Given the description of an element on the screen output the (x, y) to click on. 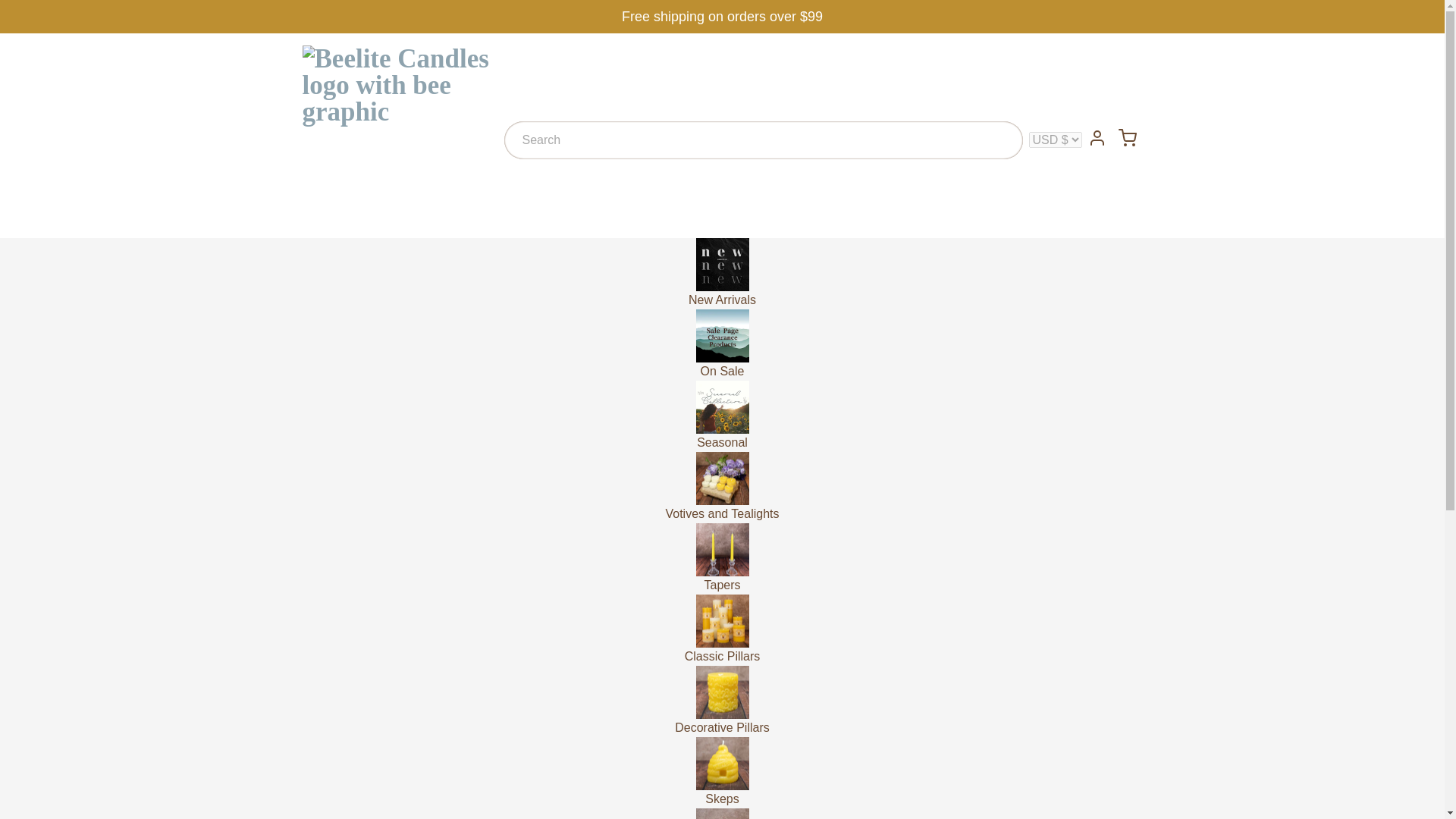
Cart (1126, 137)
Account (1096, 137)
